Given the description of an element on the screen output the (x, y) to click on. 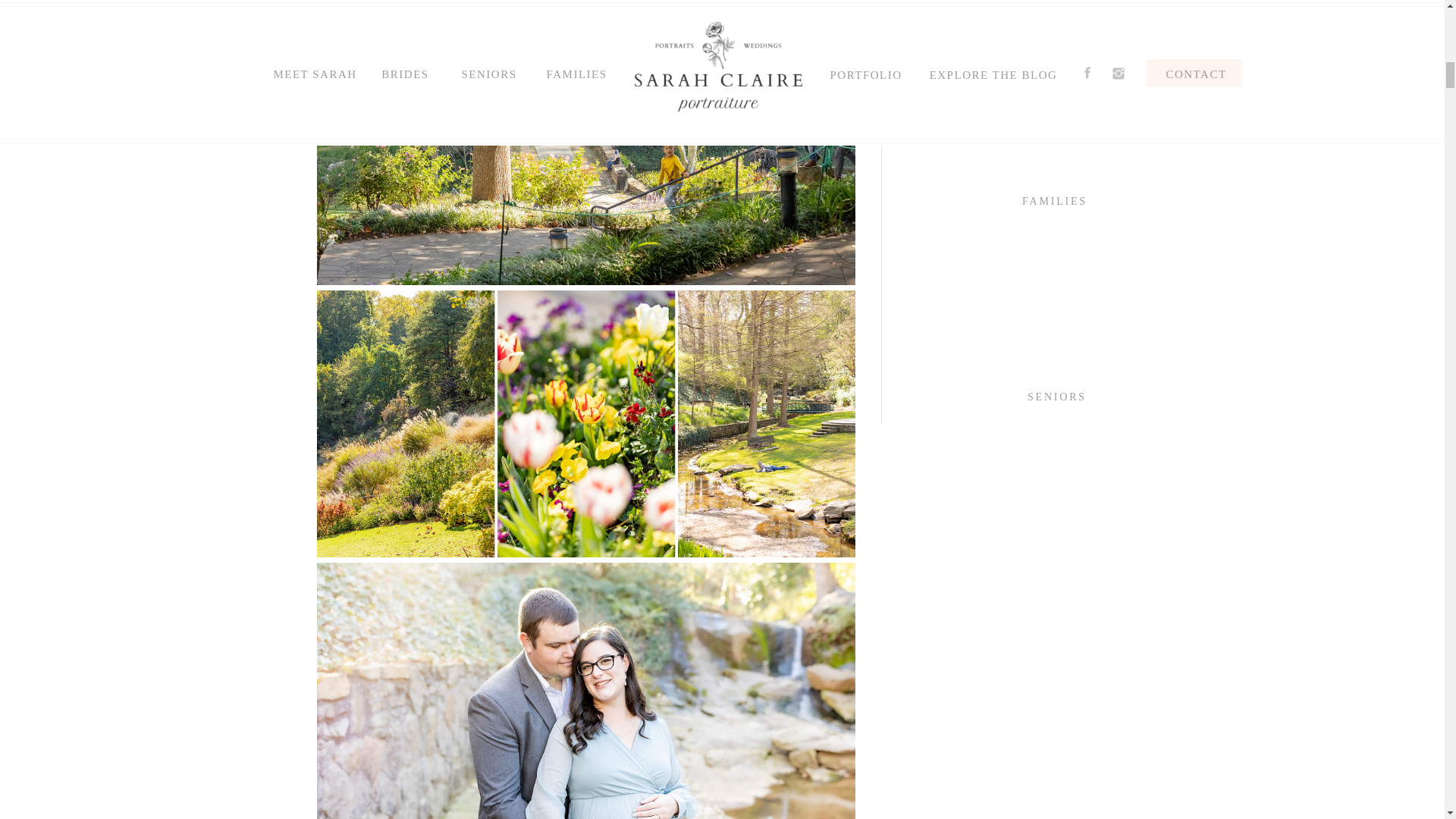
LIFE WITH SARAH CLAIRE (1056, 12)
SENIORS (1056, 396)
FAMILIES (1055, 200)
